Given the description of an element on the screen output the (x, y) to click on. 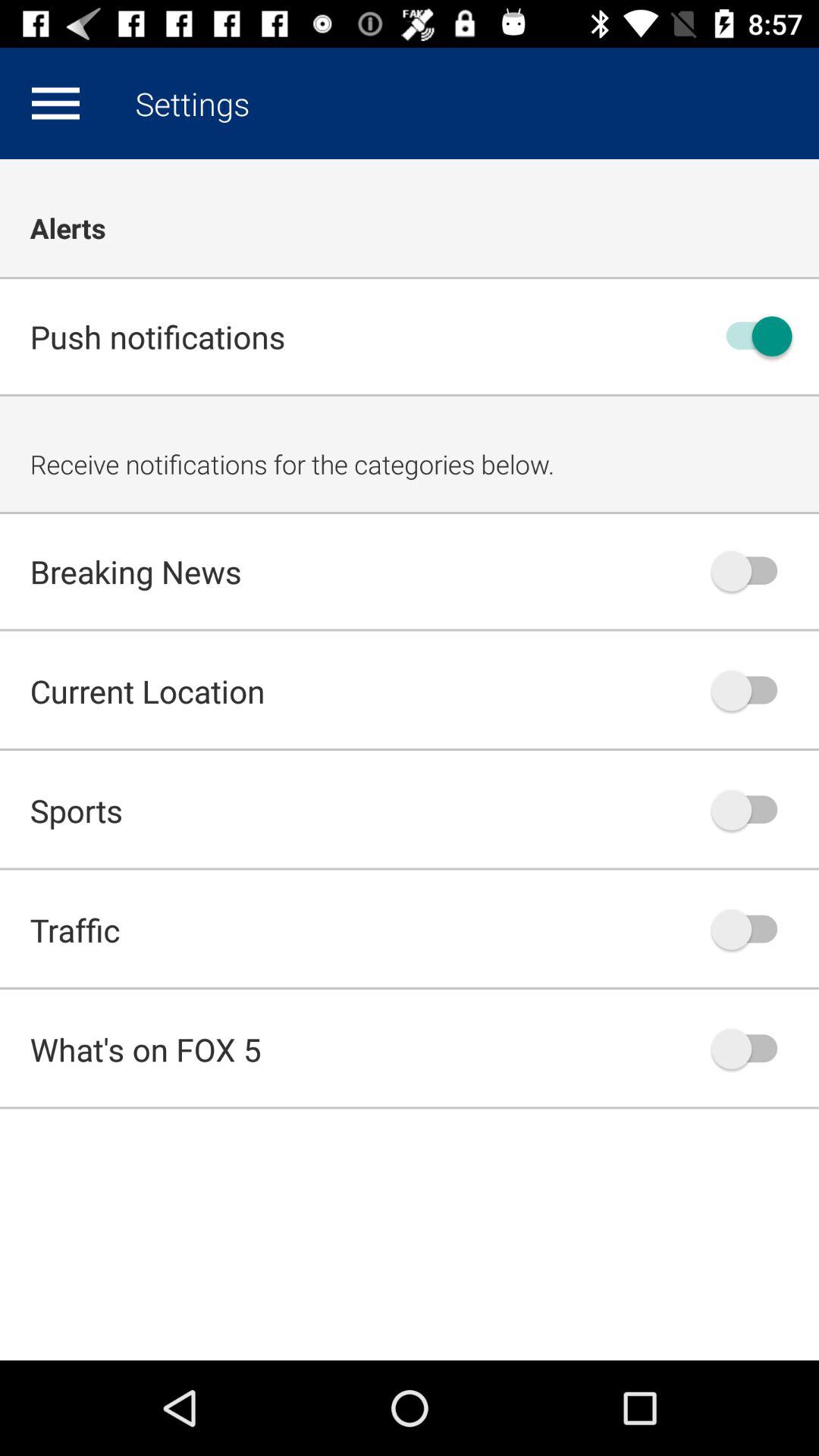
toggle notification option (751, 810)
